Given the description of an element on the screen output the (x, y) to click on. 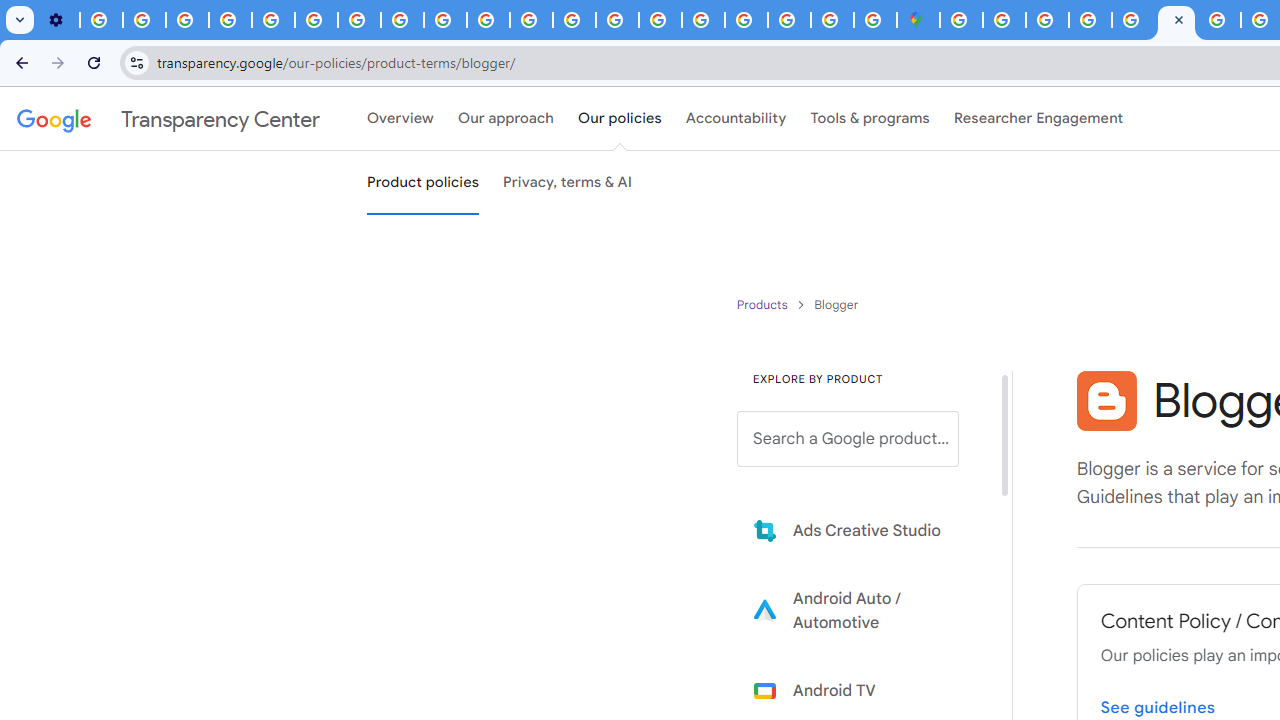
Privacy Help Center - Policies Help (273, 20)
Terms and Conditions (1133, 20)
Learn more about Ads Creative Studio (862, 530)
Transparency Center (167, 119)
